Given the description of an element on the screen output the (x, y) to click on. 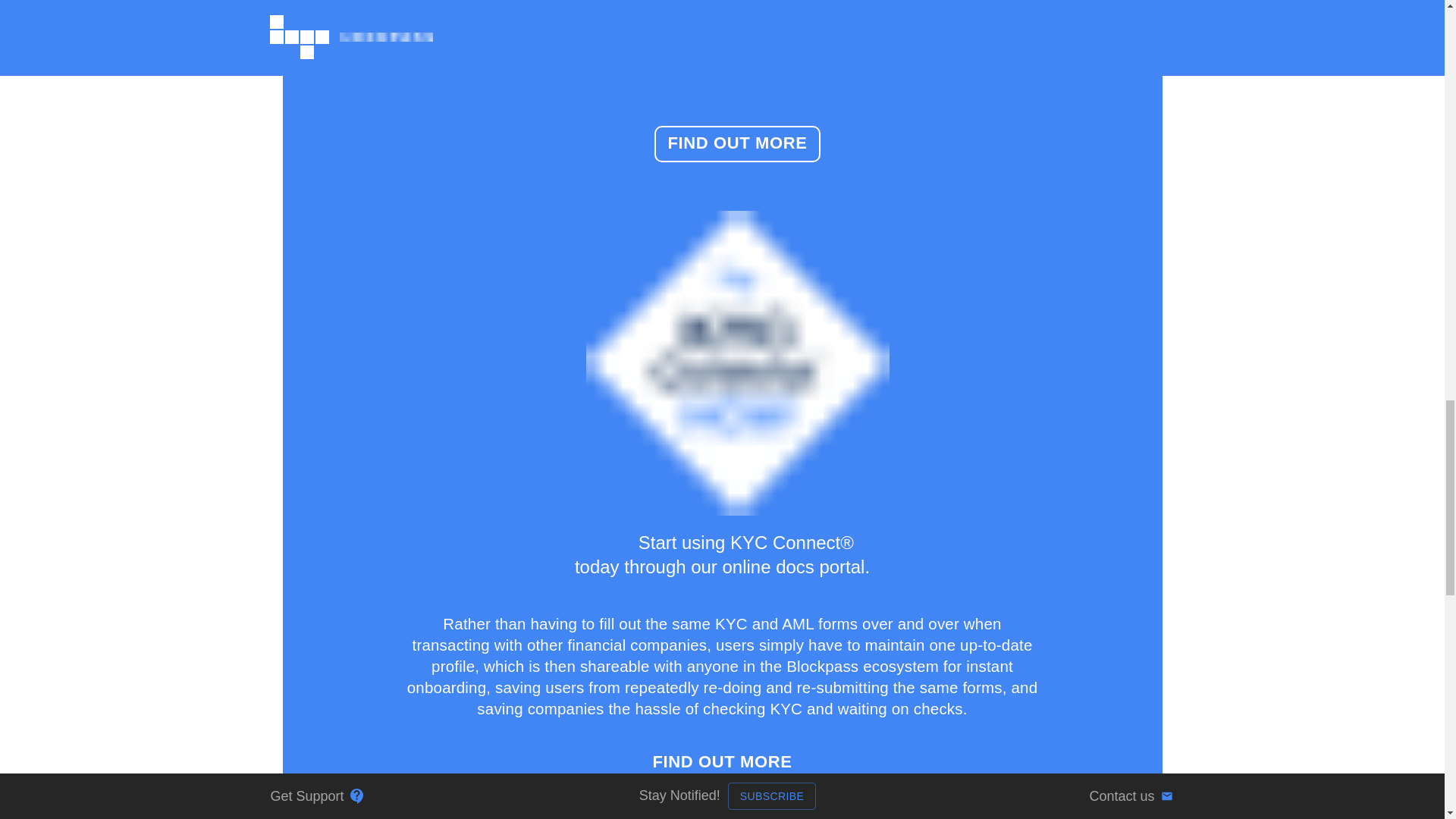
FIND OUT MORE (722, 761)
FIND OUT MORE (736, 144)
